Given the description of an element on the screen output the (x, y) to click on. 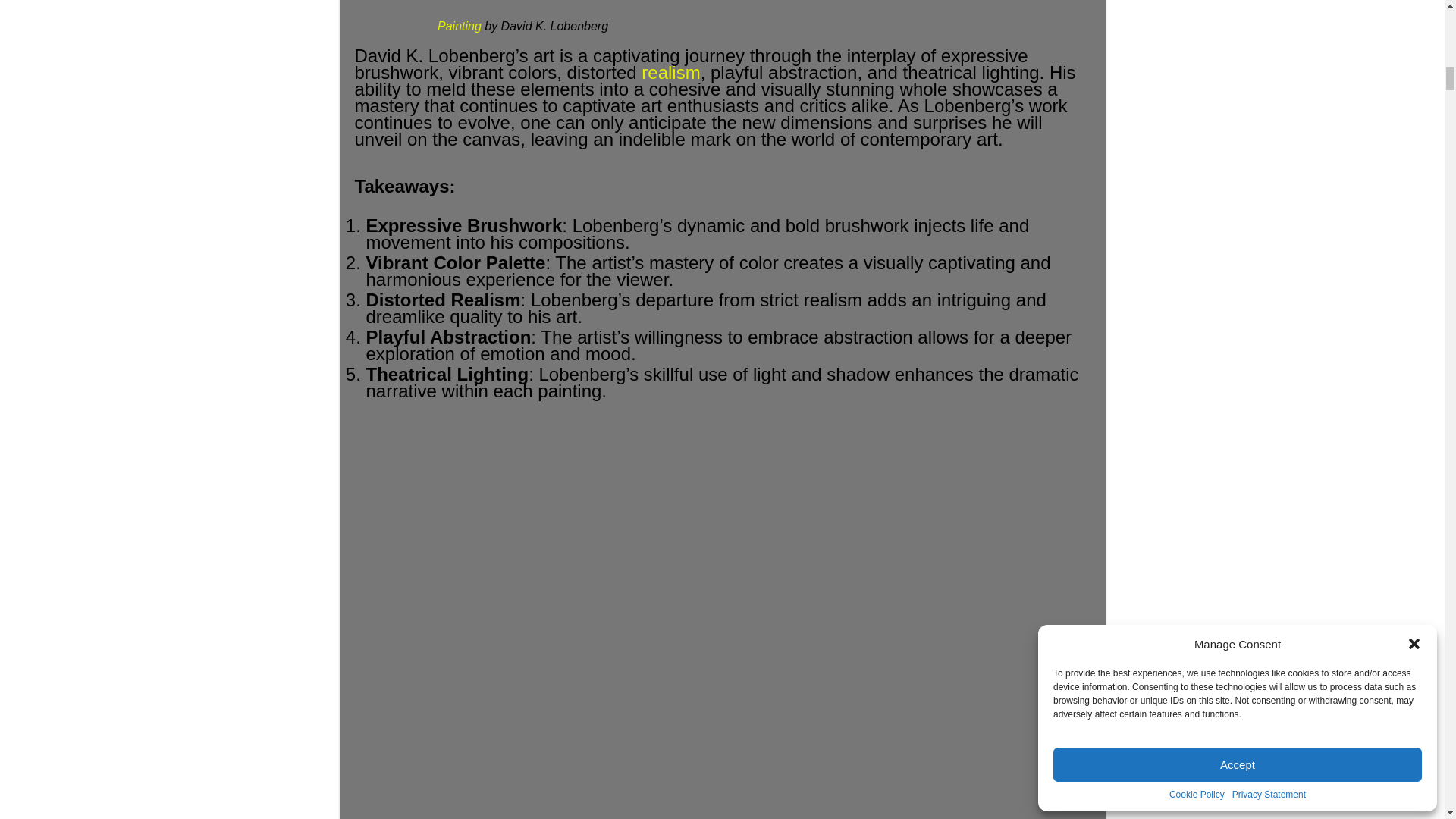
Painting (459, 25)
realism (671, 72)
